Given the description of an element on the screen output the (x, y) to click on. 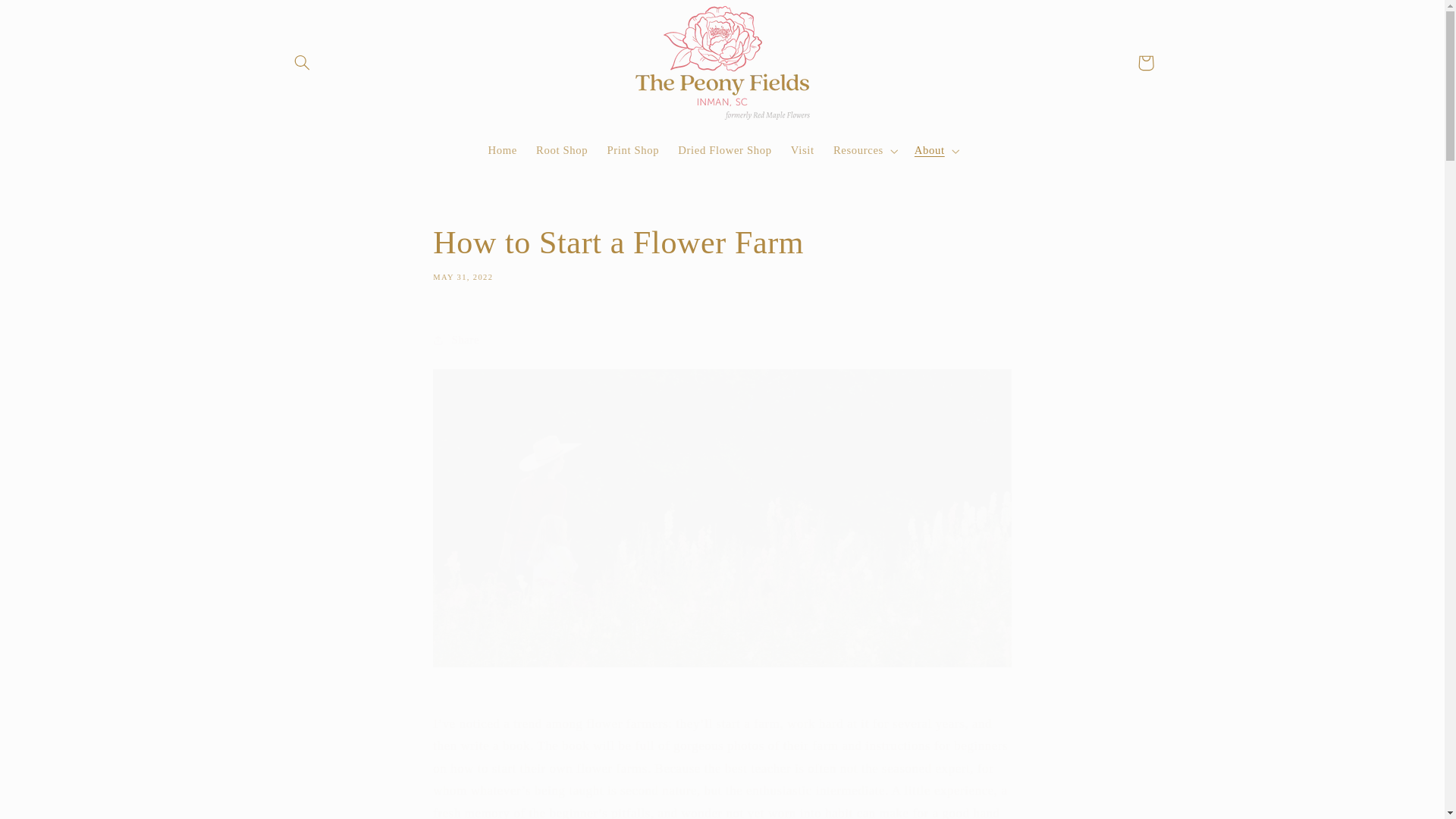
Root Shop (561, 150)
Print Shop (721, 251)
Home (632, 150)
Visit (503, 150)
Cart (802, 150)
Dried Flower Shop (1145, 62)
Skip to content (724, 150)
Share (48, 18)
